Given the description of an element on the screen output the (x, y) to click on. 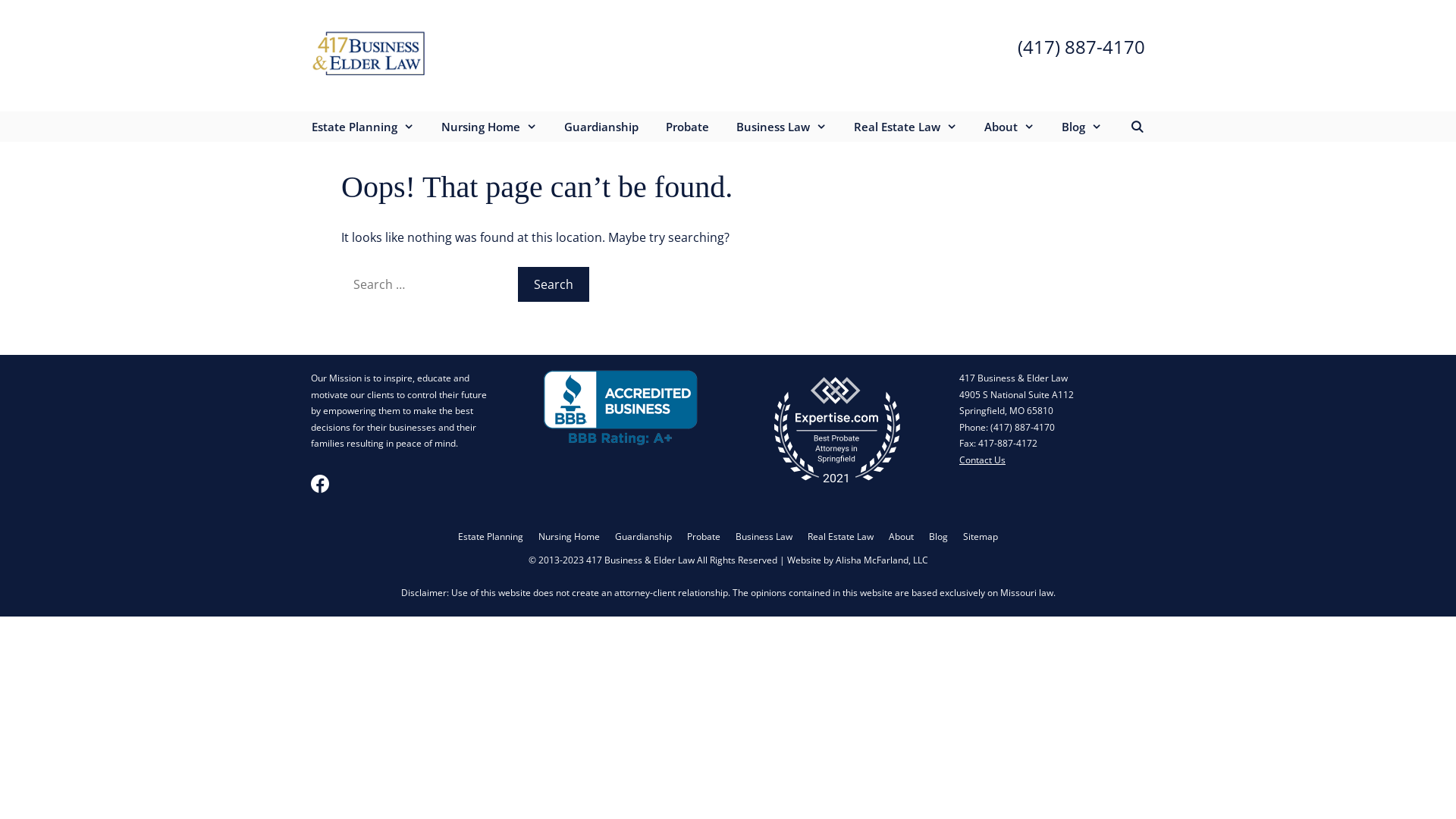
Nursing Home Element type: text (488, 126)
Business Law Element type: text (763, 536)
Guardianship Element type: text (643, 536)
Probate Element type: text (703, 536)
Estate Planning Element type: text (362, 126)
Real Estate Law Element type: text (840, 536)
Estate Planning Element type: text (490, 536)
Sitemap Element type: text (980, 536)
Search Element type: text (553, 283)
Contact Us Element type: text (982, 459)
Blog Element type: text (1081, 126)
About Element type: text (900, 536)
(417) 887-4170 Element type: text (1081, 46)
Nursing Home Element type: text (568, 536)
Alisha McFarland, LLC Element type: text (881, 559)
(417) 887-4170 Element type: text (1022, 426)
Business Law Element type: text (781, 126)
Guardianship Element type: text (601, 126)
About Element type: text (1009, 126)
Real Estate Law Element type: text (905, 126)
Probate Element type: text (687, 126)
Blog Element type: text (937, 536)
